Given the description of an element on the screen output the (x, y) to click on. 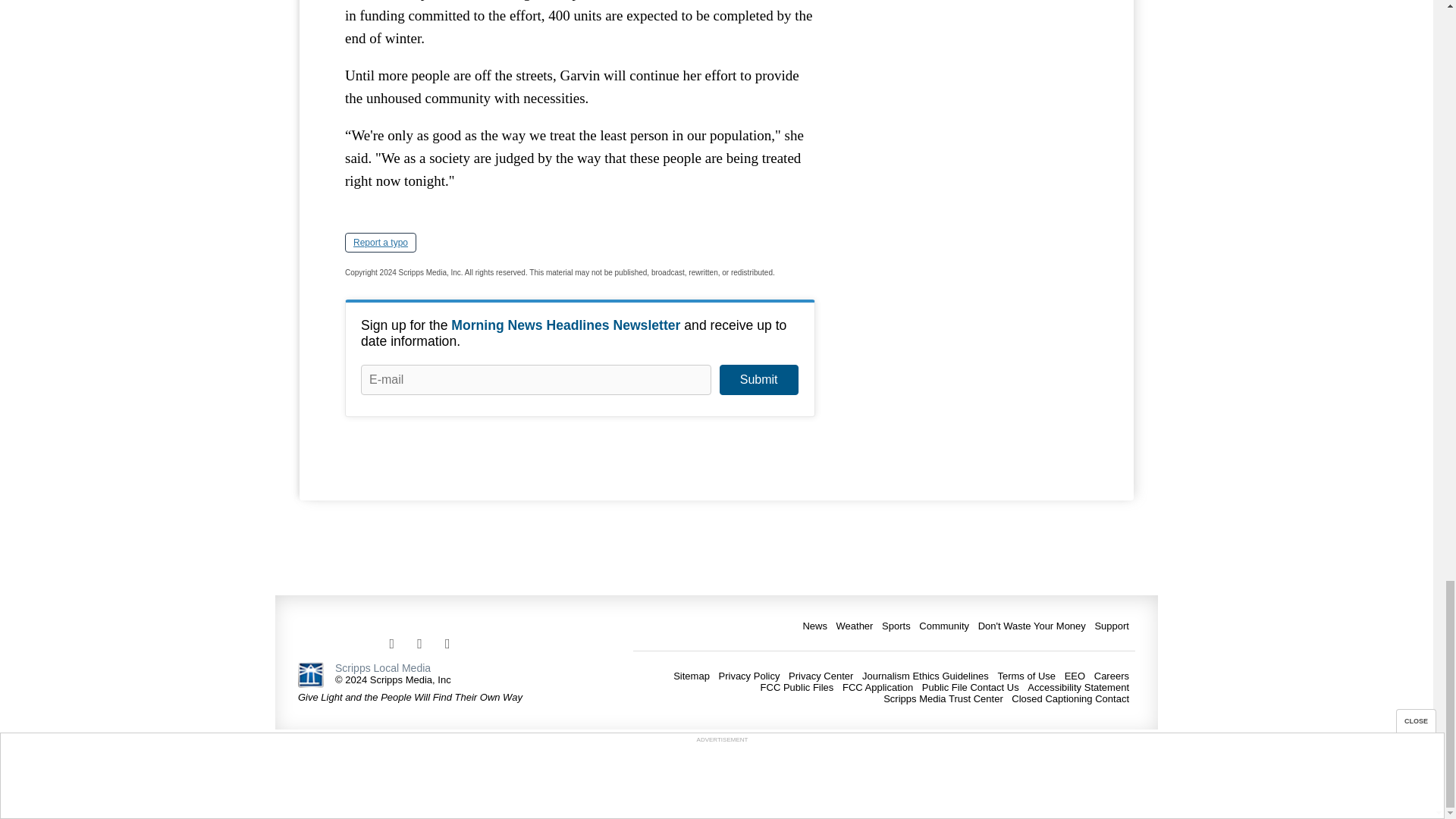
Submit (758, 379)
